Given the description of an element on the screen output the (x, y) to click on. 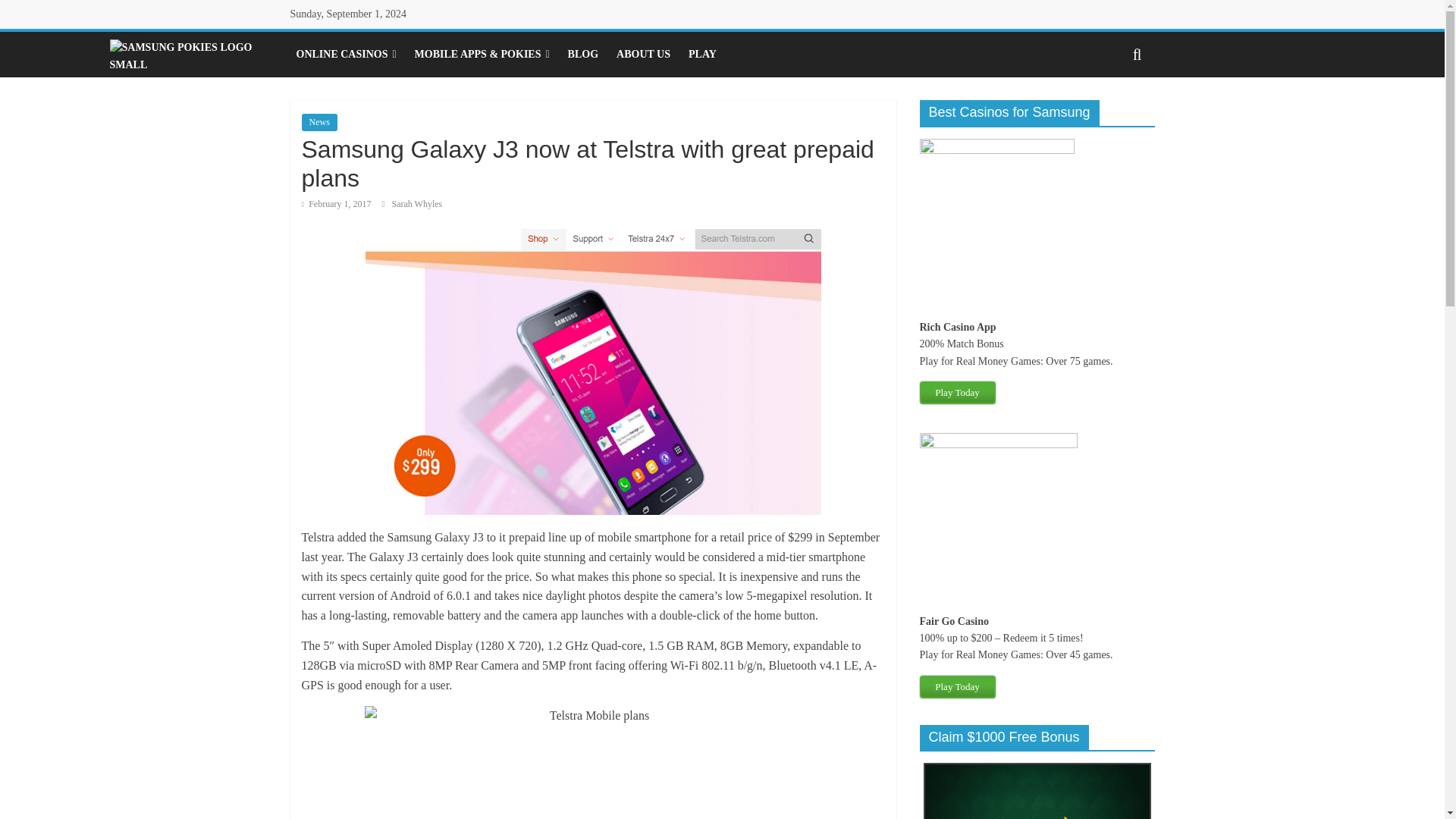
February 1, 2017 (336, 204)
Play Today (956, 686)
News (319, 121)
Sarah Whyles (416, 204)
Play Today (956, 686)
PLAY (702, 54)
6:07 am (336, 204)
BLOG (583, 54)
ABOUT US (643, 54)
Sarah Whyles (416, 204)
